Given the description of an element on the screen output the (x, y) to click on. 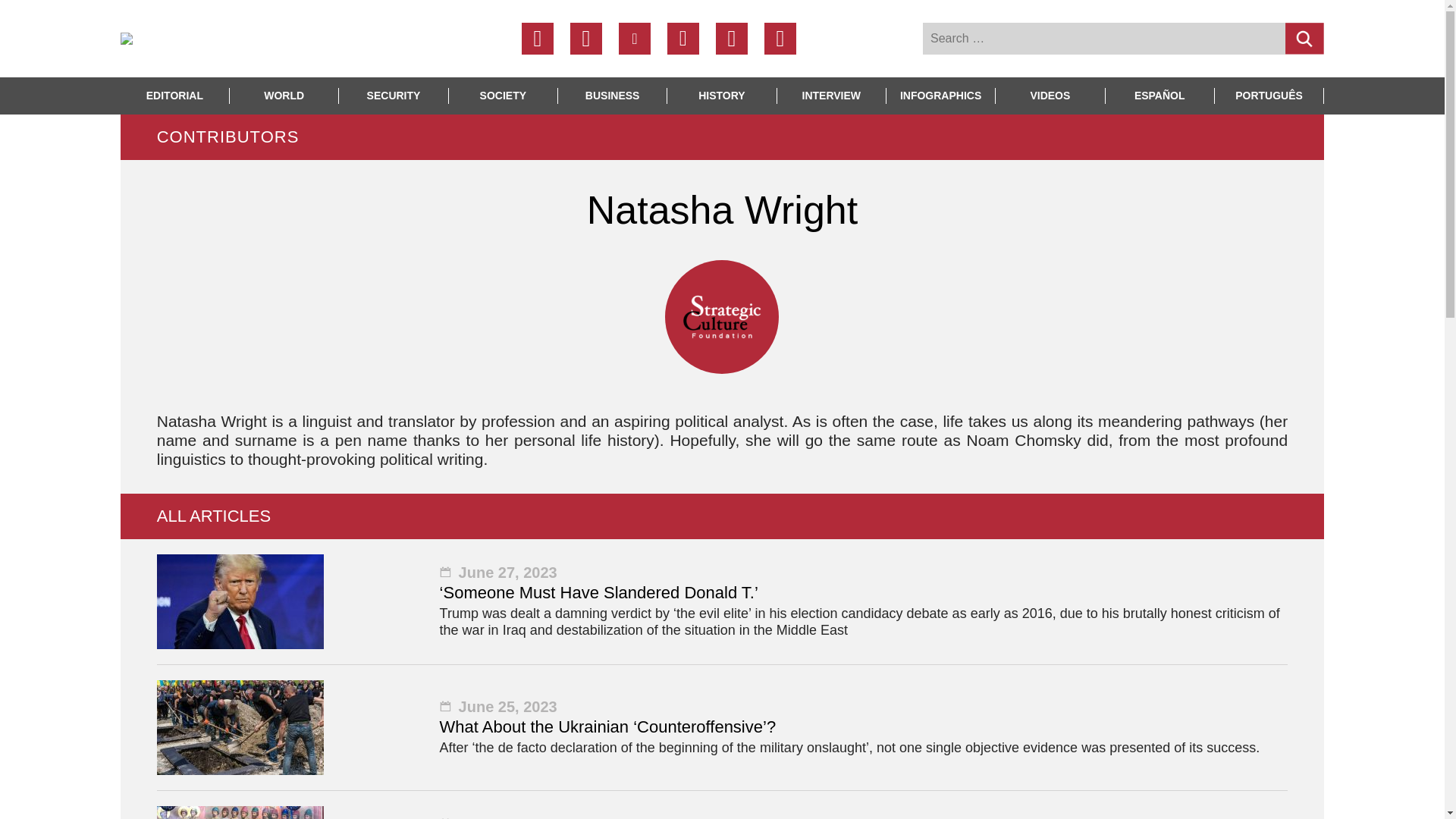
youtube (732, 38)
Search for: (1104, 38)
rss (780, 38)
twitter (586, 38)
telegram (634, 38)
vkontakte (682, 38)
facebook (537, 38)
